Given the description of an element on the screen output the (x, y) to click on. 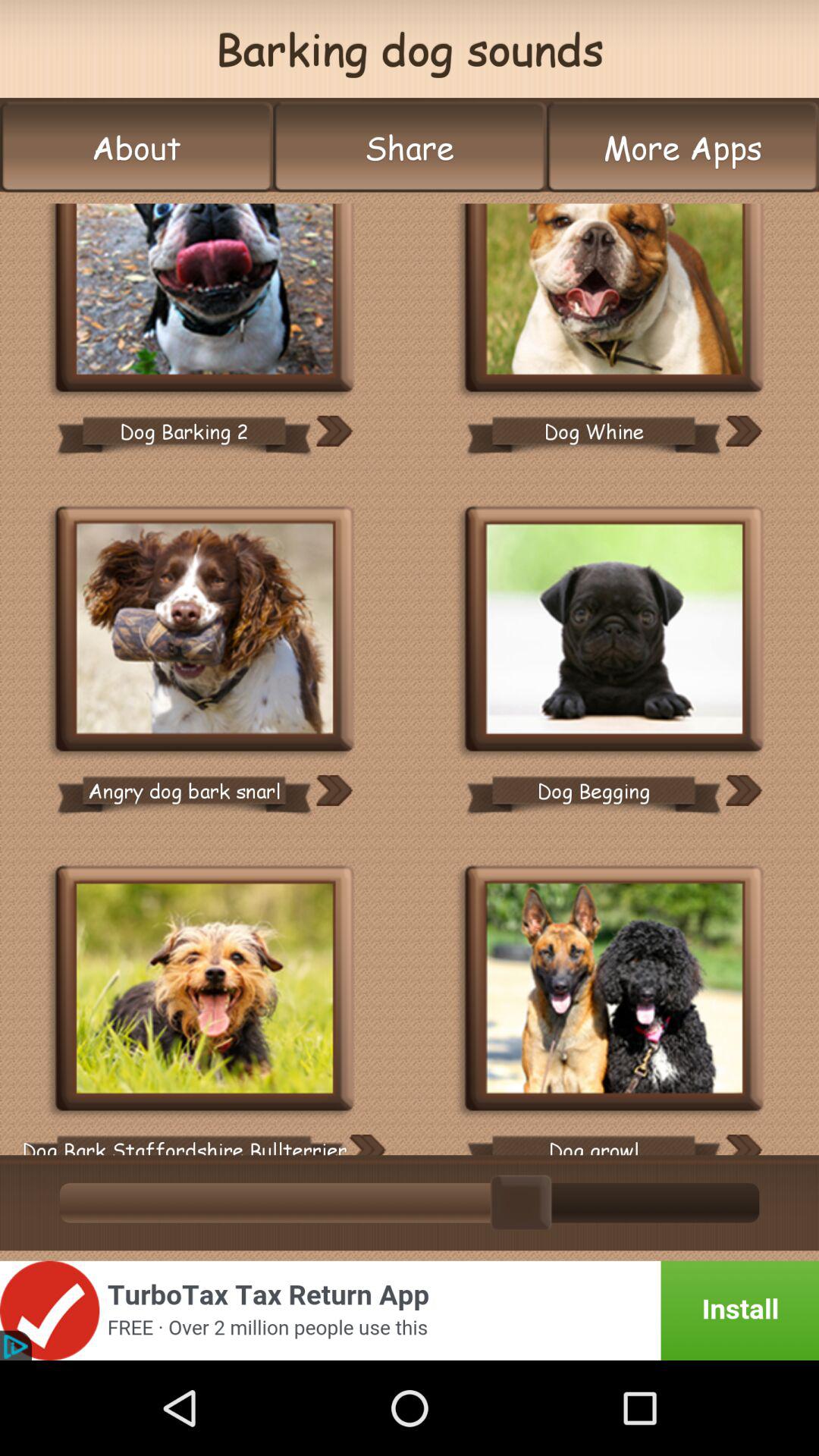
swipe until the dog growl (593, 1139)
